Given the description of an element on the screen output the (x, y) to click on. 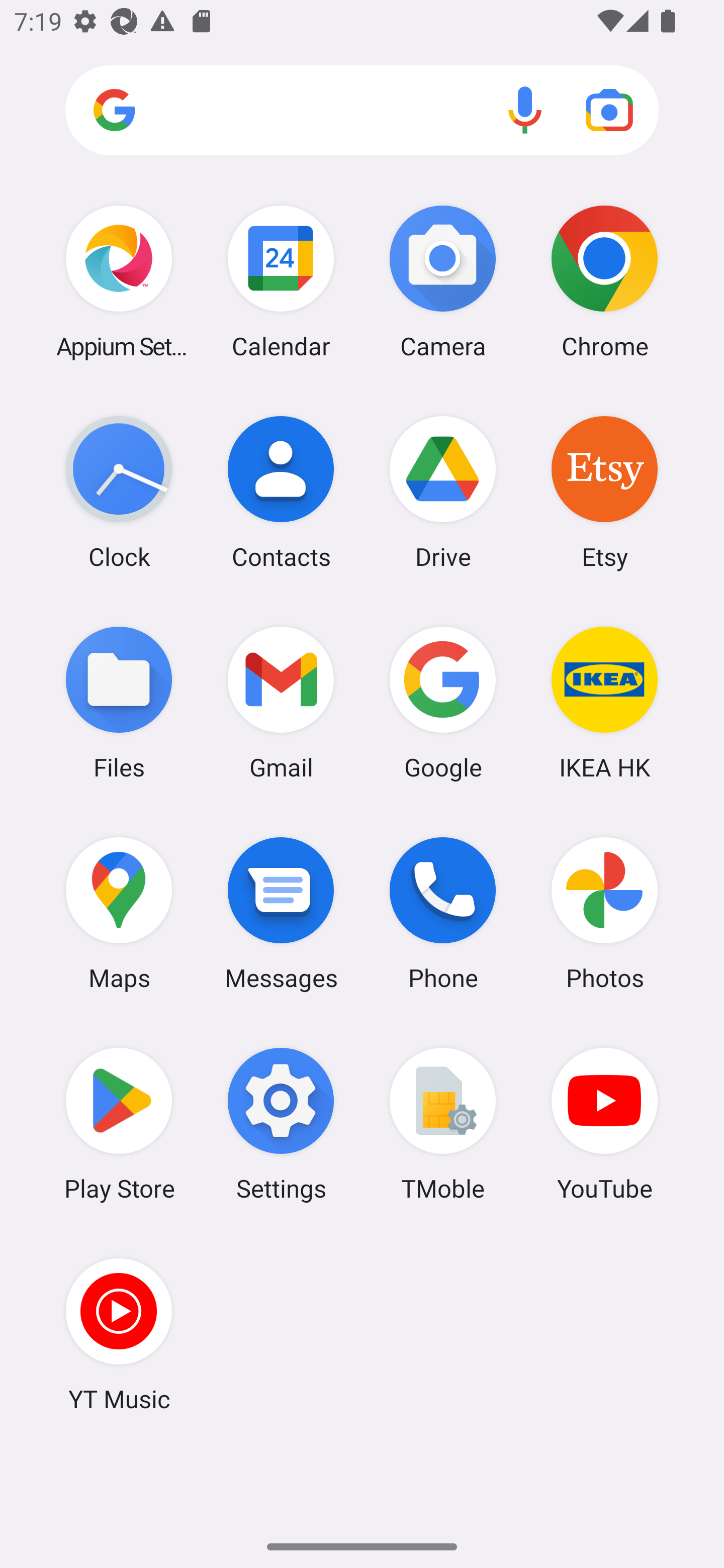
Search apps, web and more (361, 110)
Voice search (524, 109)
Google Lens (608, 109)
Appium Settings (118, 281)
Calendar (280, 281)
Camera (443, 281)
Chrome (604, 281)
Clock (118, 492)
Contacts (280, 492)
Drive (443, 492)
Etsy (604, 492)
Files (118, 702)
Gmail (280, 702)
Google (443, 702)
IKEA HK (604, 702)
Maps (118, 913)
Messages (280, 913)
Phone (443, 913)
Photos (604, 913)
Play Store (118, 1124)
Settings (280, 1124)
TMoble (443, 1124)
YouTube (604, 1124)
YT Music (118, 1334)
